Given the description of an element on the screen output the (x, y) to click on. 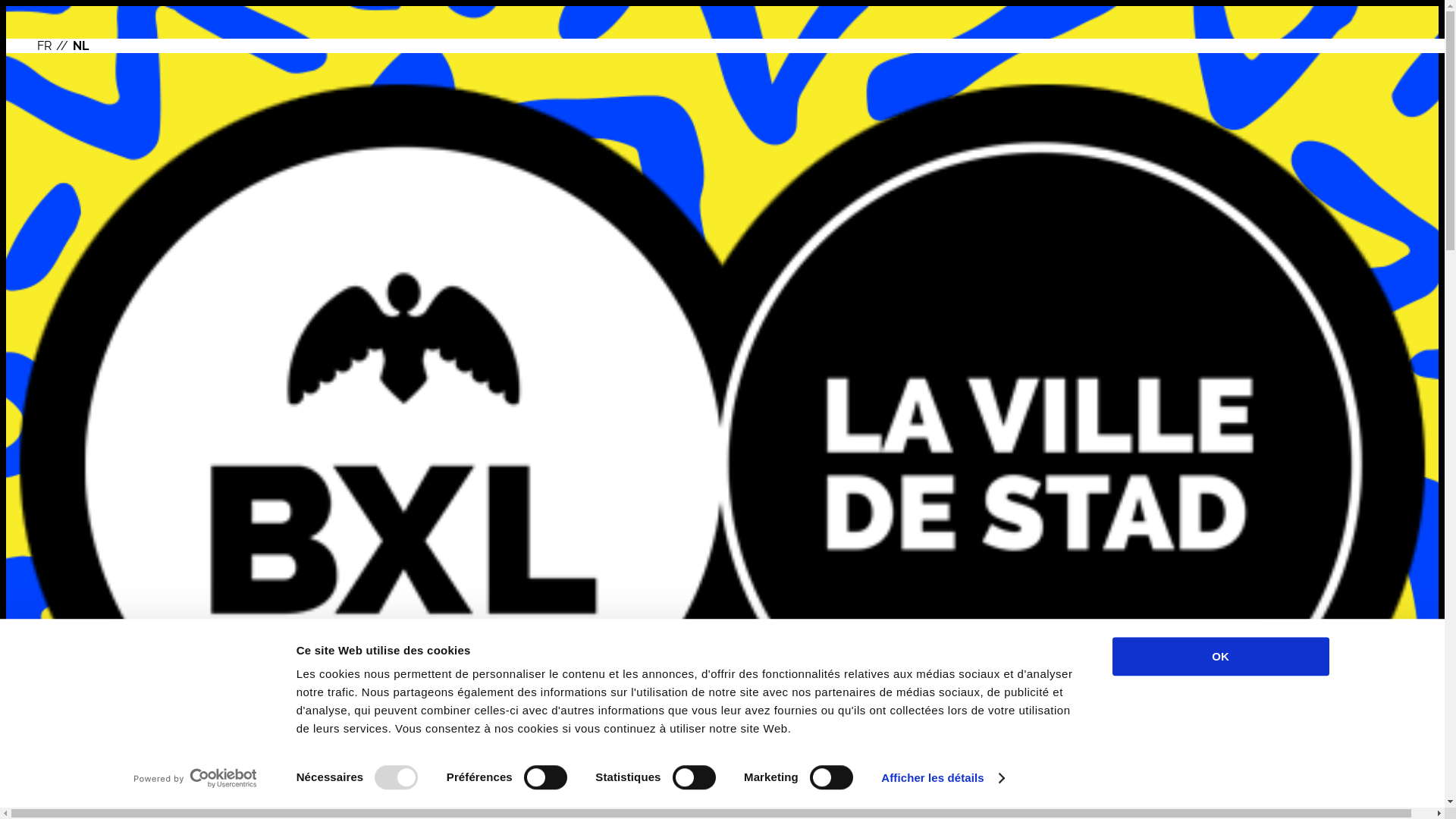
FR Element type: text (44, 45)
Overslaan en naar de inhoud gaan Element type: text (722, 7)
OK Element type: text (1219, 656)
NL Element type: text (80, 45)
